Given the description of an element on the screen output the (x, y) to click on. 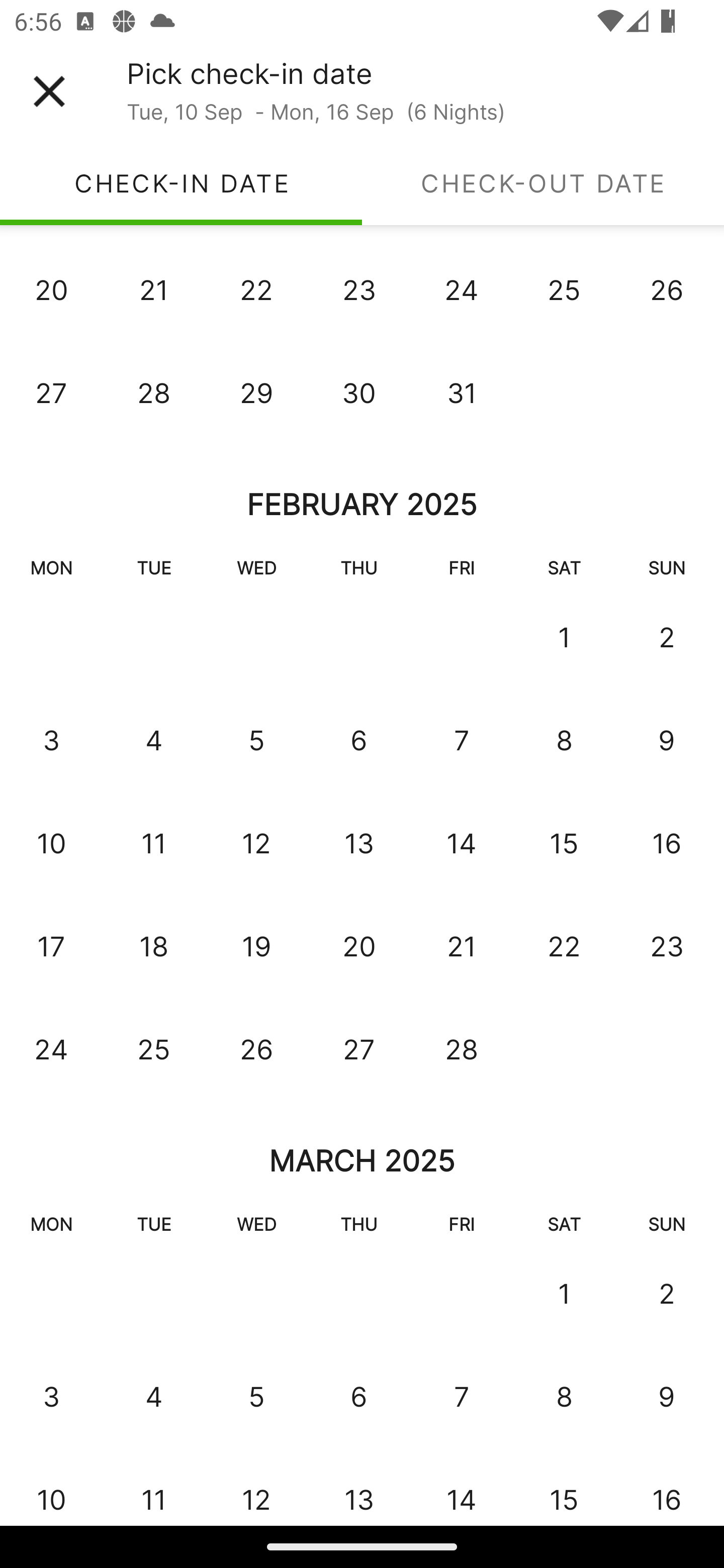
Check-out Date CHECK-OUT DATE (543, 183)
